Given the description of an element on the screen output the (x, y) to click on. 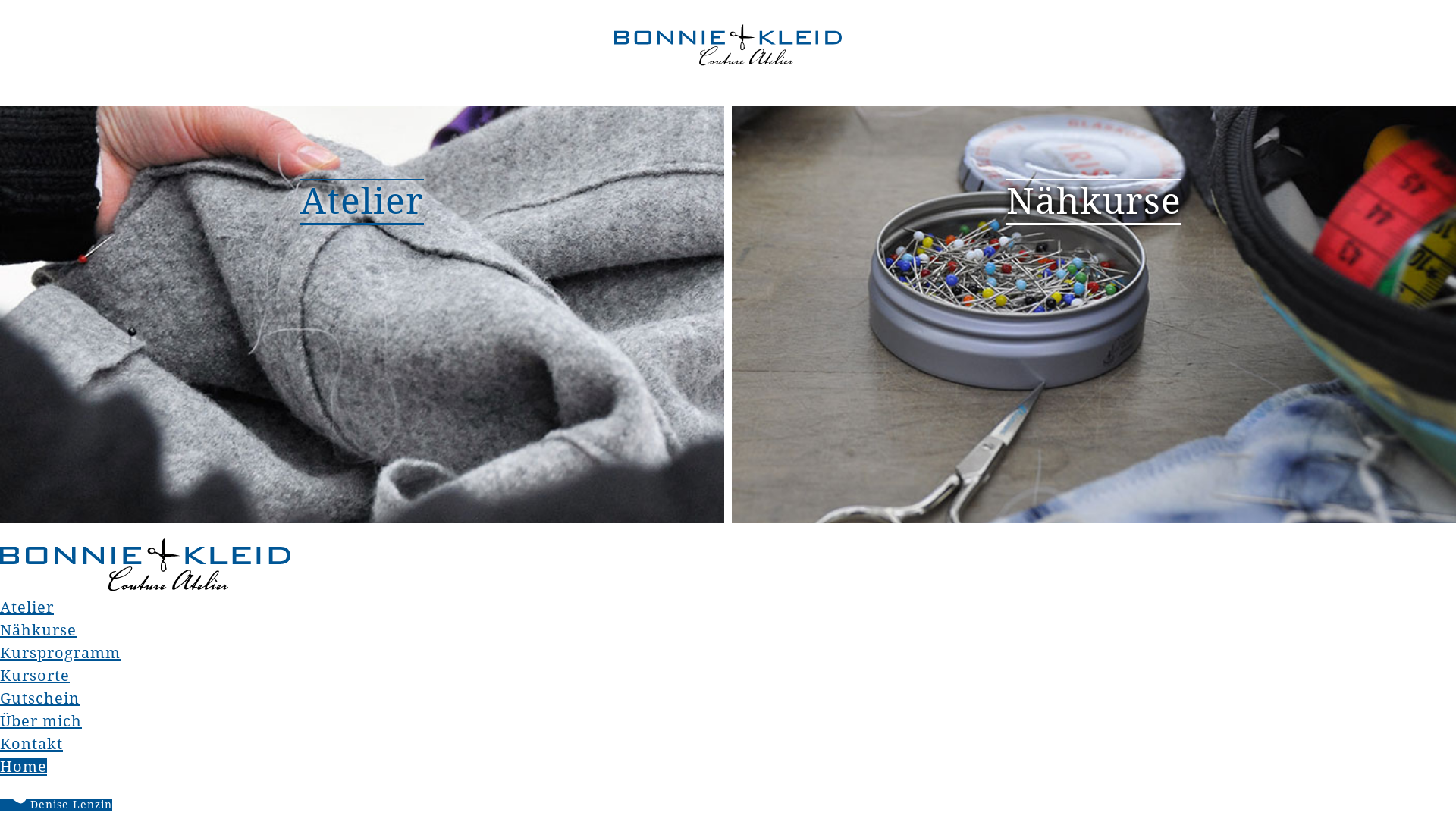
Bonnie und Kleid Element type: text (727, 45)
Kursprogramm Element type: text (60, 652)
Kontakt Element type: text (31, 743)
Atelier Element type: text (361, 201)
Atelier Element type: text (26, 607)
Gutschein Element type: text (39, 698)
Kursorte Element type: text (34, 675)
Denise Lenzin Element type: text (56, 804)
Home Element type: text (23, 766)
